Given the description of an element on the screen output the (x, y) to click on. 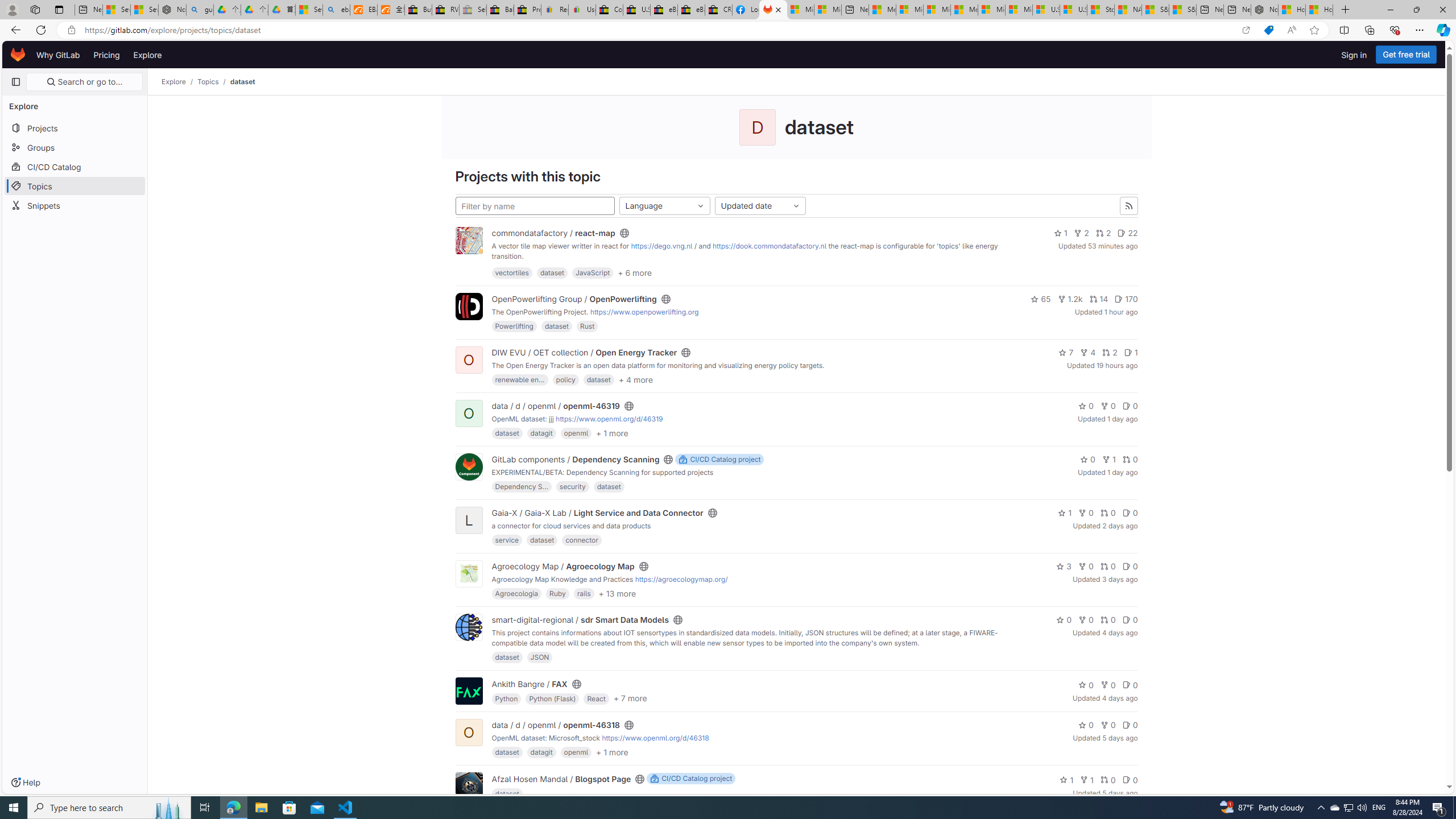
+ 13 more (617, 592)
RV, Trailer & Camper Steps & Ladders for sale | eBay (445, 9)
Buy Auto Parts & Accessories | eBay (418, 9)
U.S. State Privacy Disclosures - eBay Inc. (636, 9)
smart-digital-regional / sdr Smart Data Models (580, 619)
Dependency S... (521, 486)
Open in app (1245, 29)
JSON (539, 656)
Class: s16 dropdown-menu-toggle-icon (795, 206)
Sign in (1353, 54)
Projects (74, 127)
https://www.openml.org/d/46318 (655, 737)
